Given the description of an element on the screen output the (x, y) to click on. 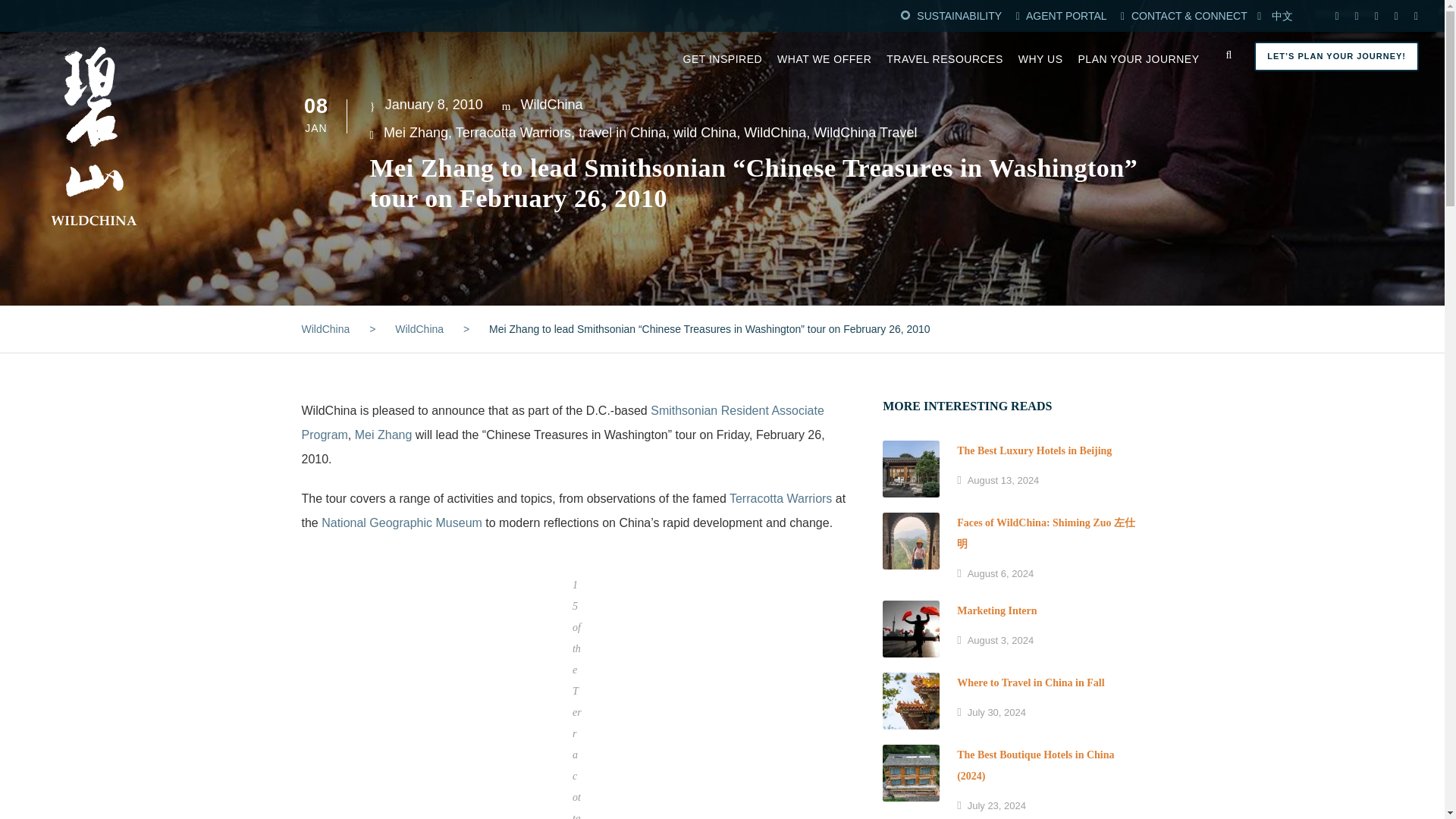
5db67263-f124-4c07-81a1-26ab132d3e5e (910, 468)
Go to WildChina. (325, 328)
7cb7ecda-485f-46e8-9c09-70968af7fd9b (910, 540)
Go to the WildChina Category archives. (419, 328)
shanghai-dancing-on-bund-highres (910, 628)
